Given the description of an element on the screen output the (x, y) to click on. 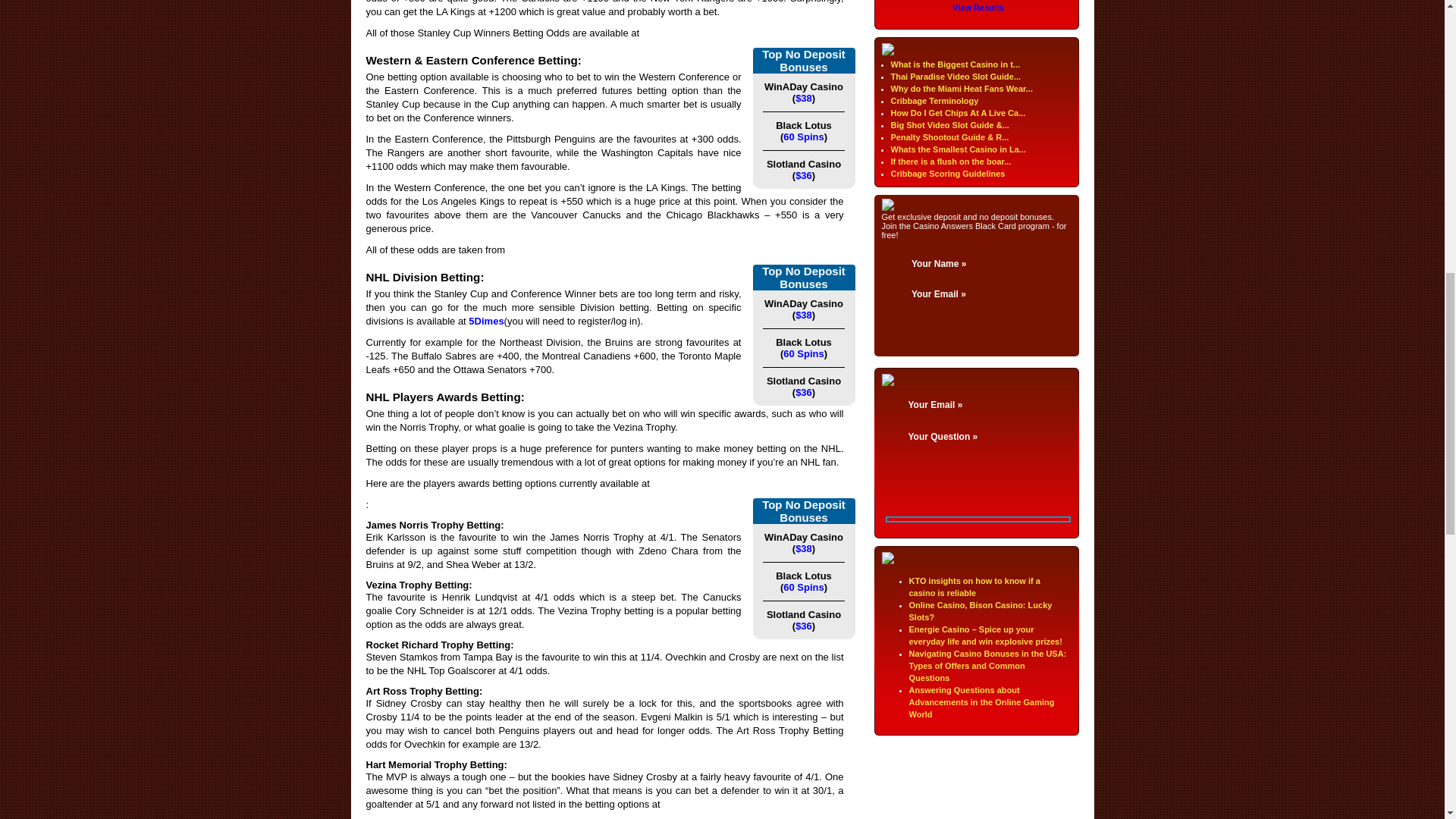
Whats the Smallest Casino in Las Vegas? (957, 148)
How Do I Get Chips At A Live Casino? (957, 112)
View Results Of This Poll (978, 7)
Send (951, 472)
Online Casino, Bison Casino: Lucky Slots? (979, 610)
If there is a flush on the board, what happens to the pot? (949, 161)
KTO insights on how to know if a casino is reliable (973, 586)
What is the Biggest Casino in the World? (954, 63)
